Given the description of an element on the screen output the (x, y) to click on. 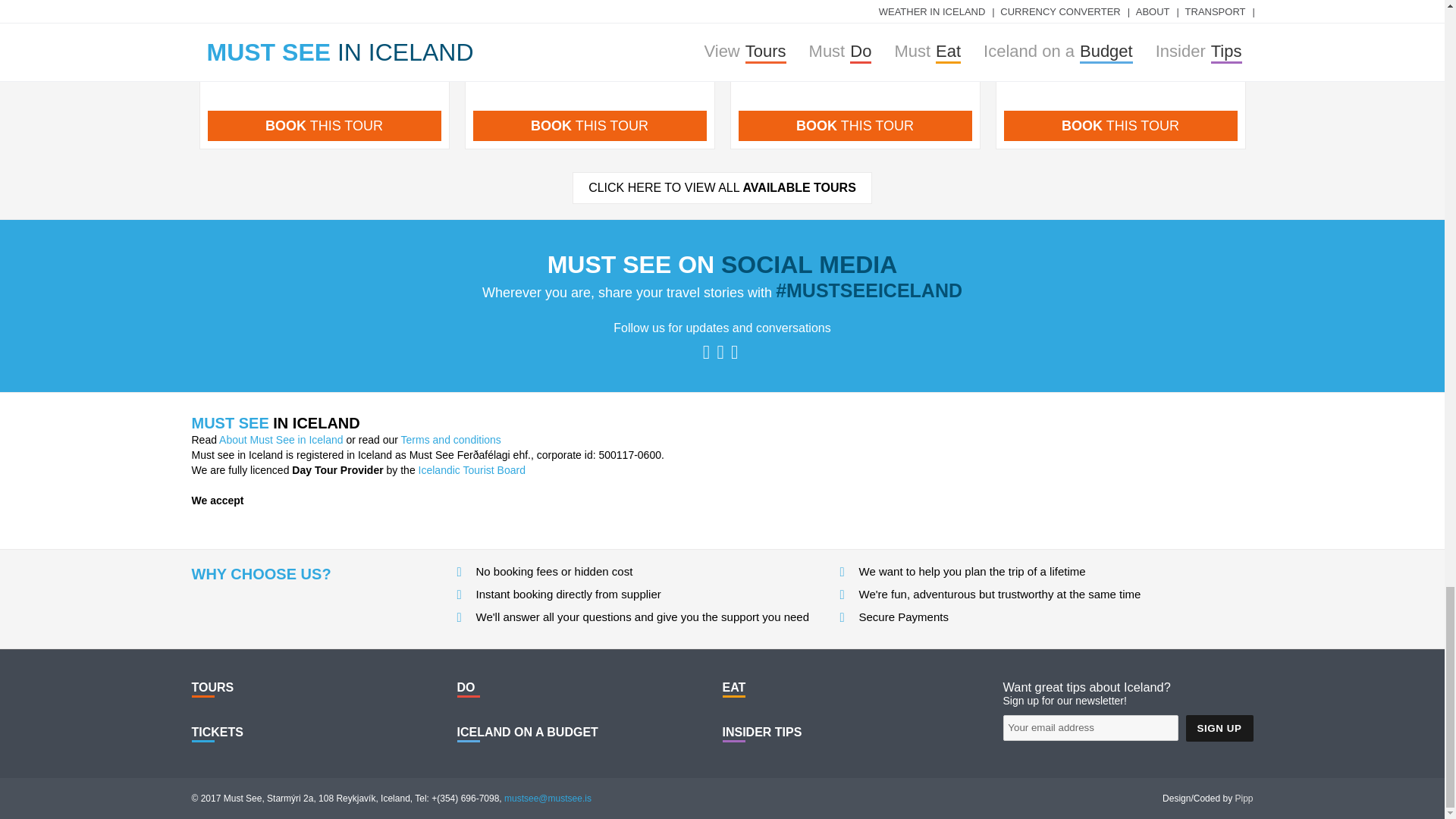
American Express (292, 520)
Sign up (1219, 728)
Diners Club (333, 520)
Visa (209, 520)
MasterCard (250, 520)
